Given the description of an element on the screen output the (x, y) to click on. 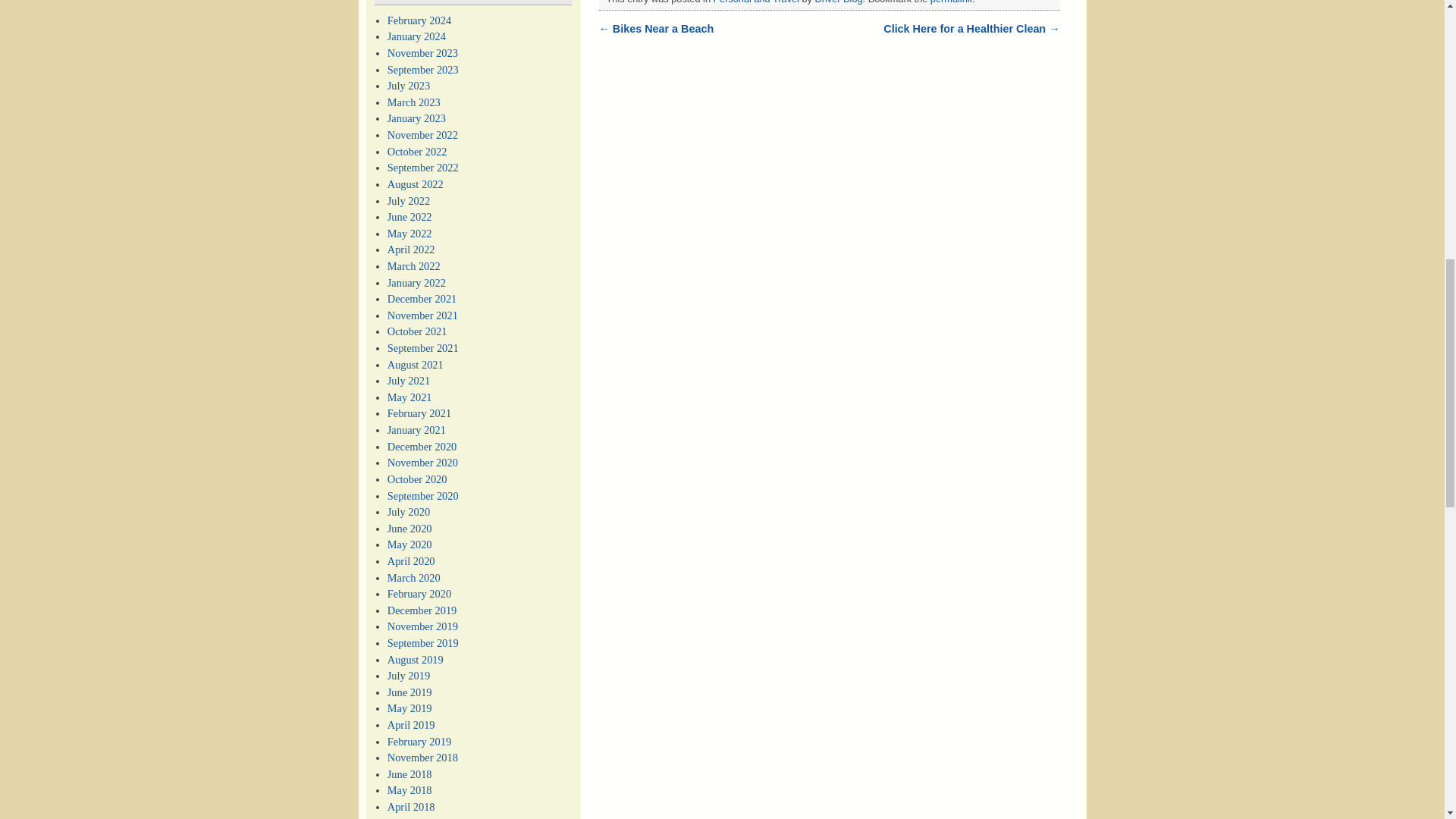
May 2022 (409, 233)
July 2023 (408, 85)
March 2023 (414, 102)
January 2023 (416, 118)
October 2022 (416, 151)
Permalink to Shaving Supplies that Help me Shave (951, 2)
January 2024 (416, 36)
November 2022 (422, 134)
September 2023 (422, 69)
March 2022 (414, 265)
